Given the description of an element on the screen output the (x, y) to click on. 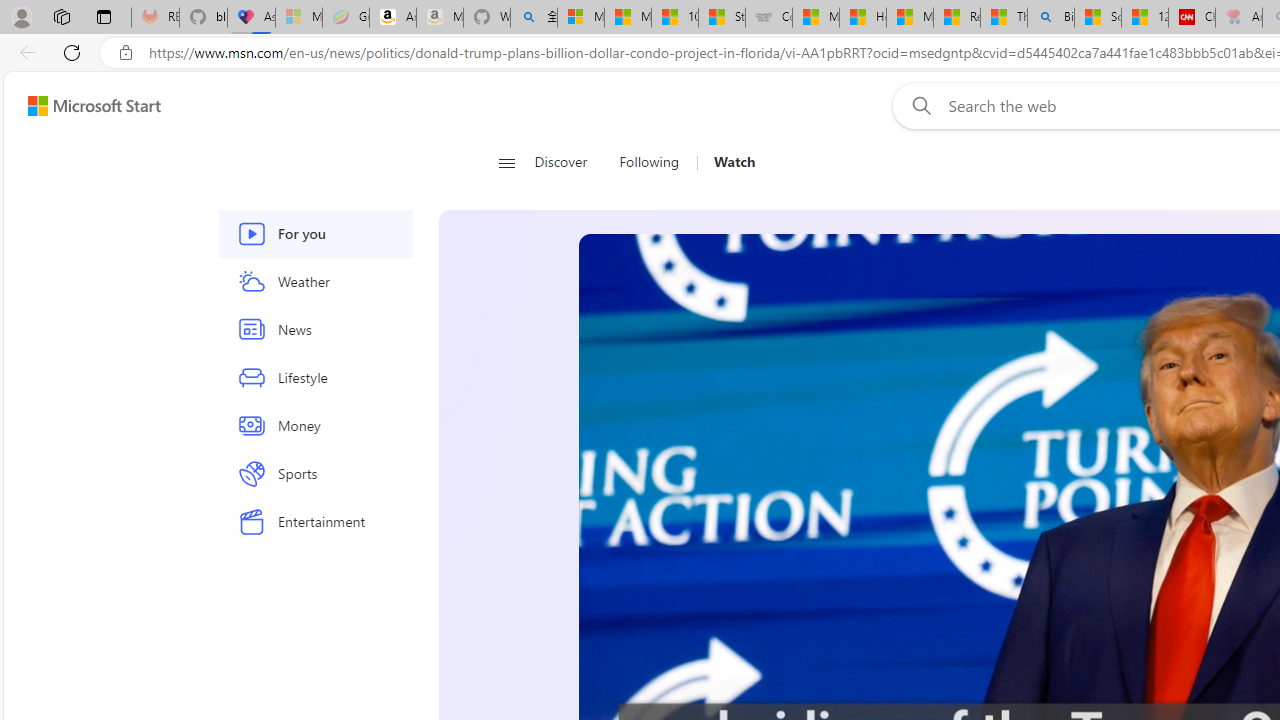
How I Got Rid of Microsoft Edge's Unnecessary Features (862, 17)
Asthma Inhalers: Names and Types (251, 17)
